Given the description of an element on the screen output the (x, y) to click on. 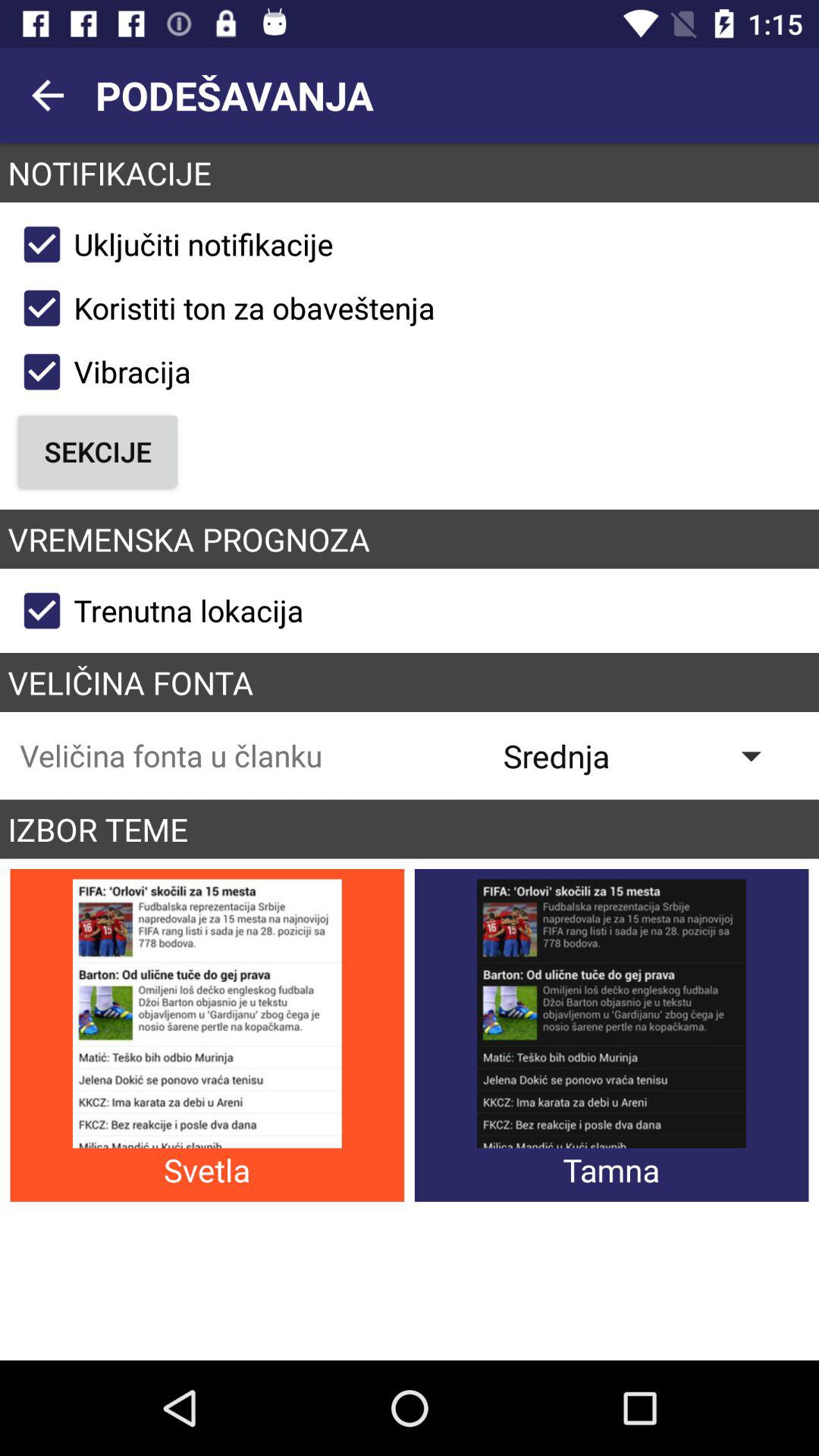
open app below the vremenska prognoza item (156, 610)
